Given the description of an element on the screen output the (x, y) to click on. 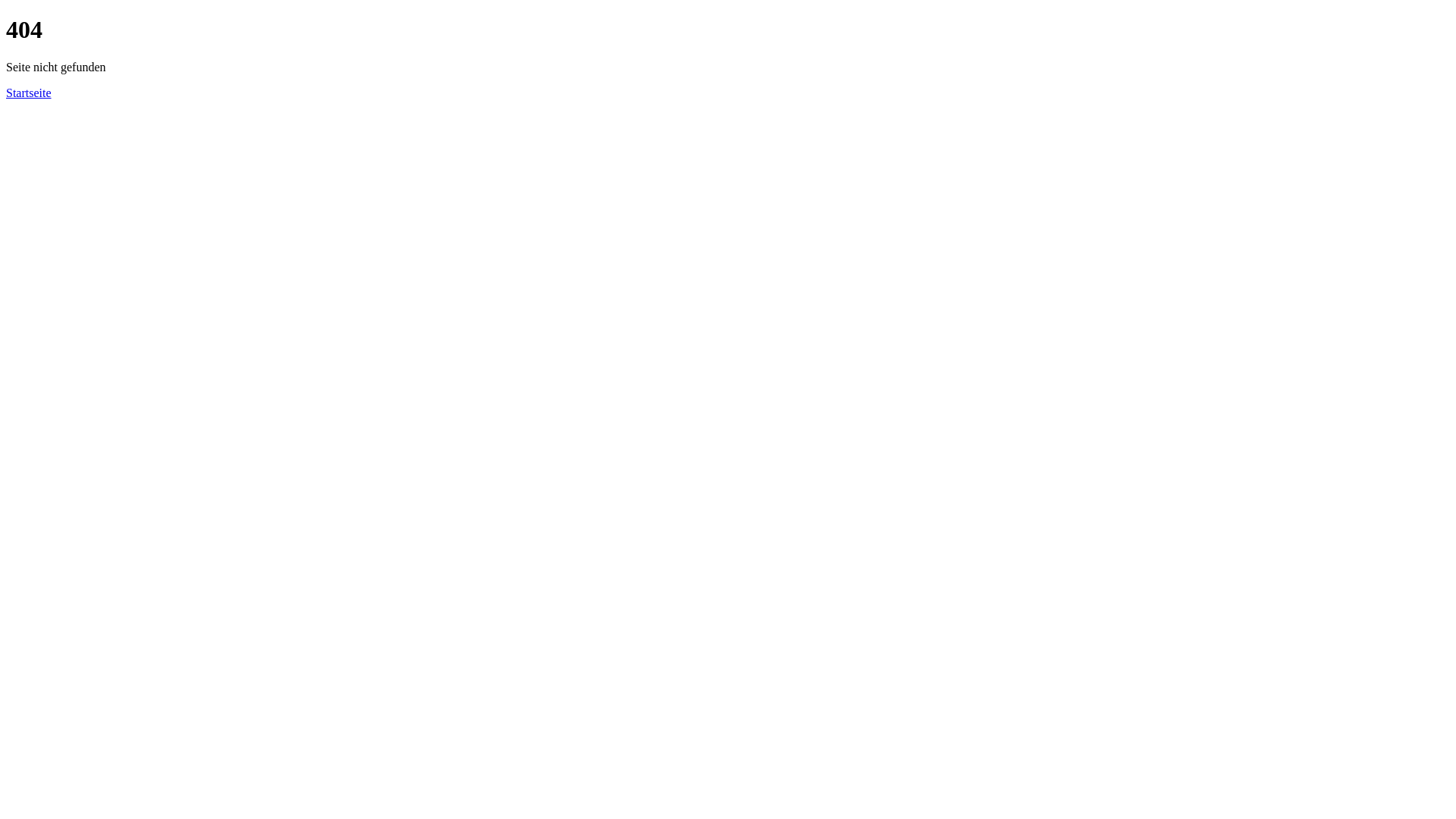
Startseite Element type: text (28, 92)
